Given the description of an element on the screen output the (x, y) to click on. 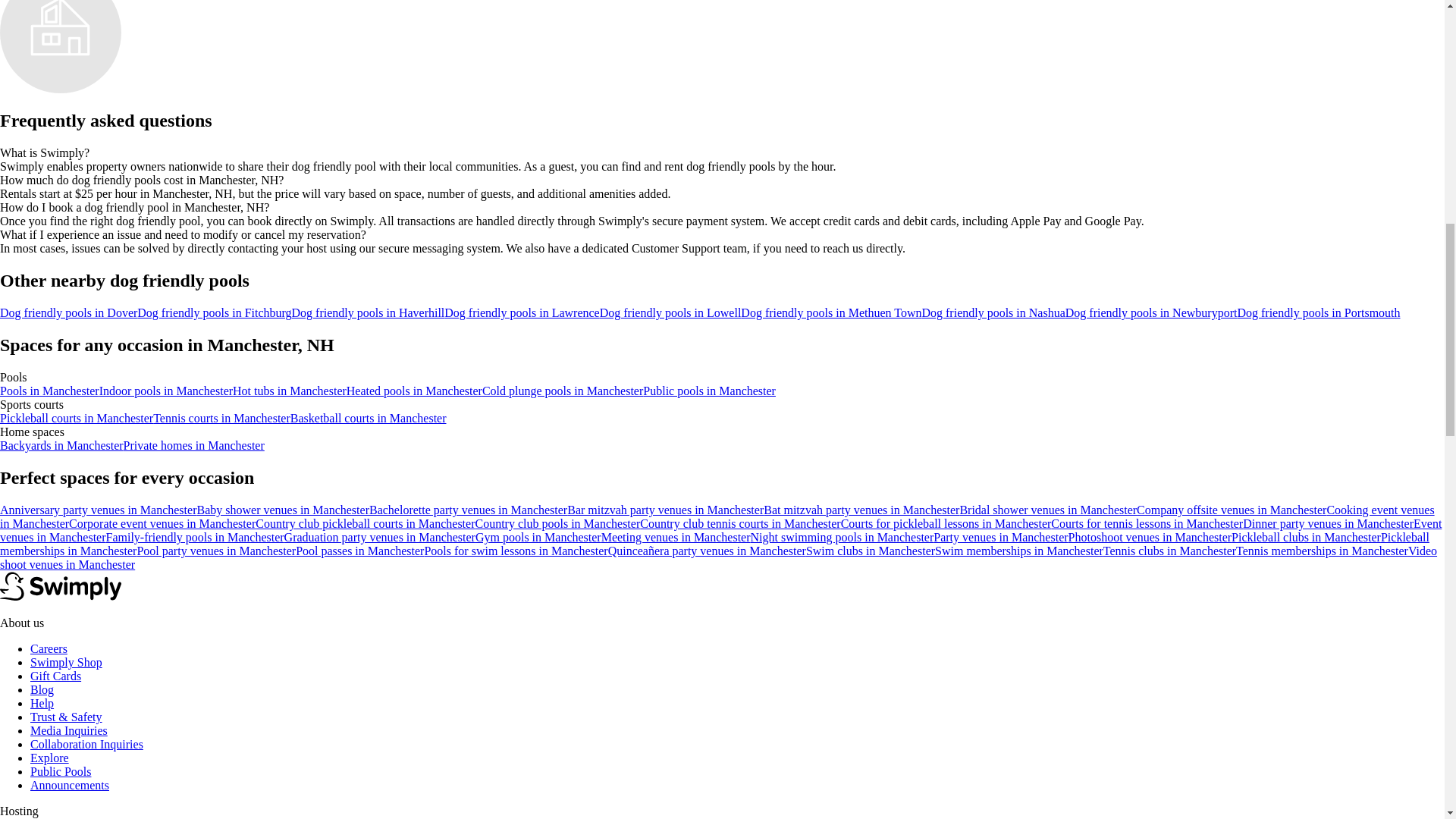
Gift Cards (55, 675)
Bachelorette party venues in Manchester (468, 509)
Dog friendly pools in Newburyport (1151, 312)
Dog friendly pools in Portsmouth (1317, 312)
Cooking event venues in Manchester (717, 516)
Dog friendly pools in Haverhill (368, 312)
Baby shower venues in Manchester (282, 509)
Public pools in Manchester (709, 390)
Country club pickleball courts in Manchester (365, 522)
Tennis courts in Manchester (220, 418)
